Given the description of an element on the screen output the (x, y) to click on. 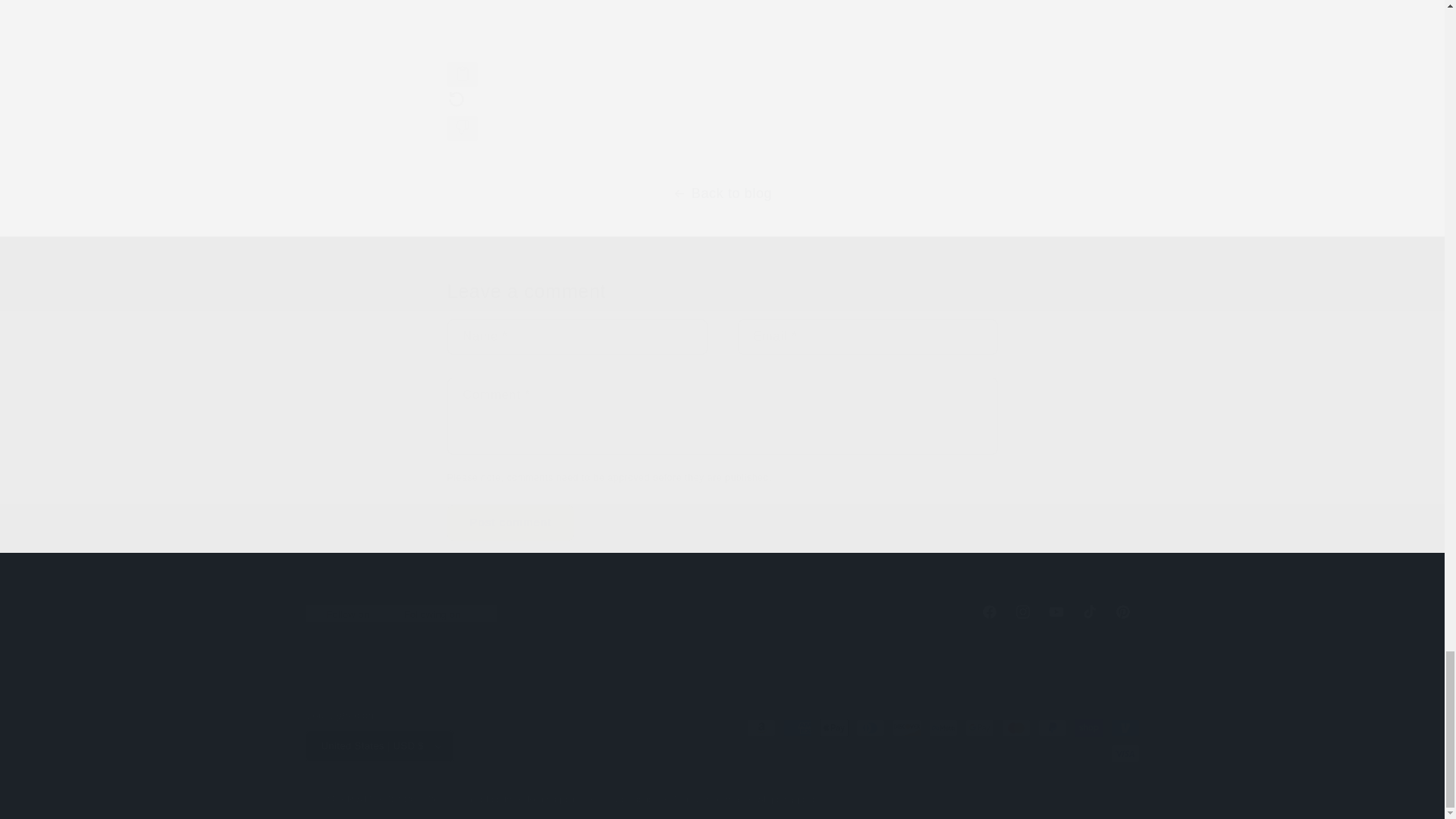
TikTok (1088, 611)
Privacy policy (628, 799)
Terms of service (707, 799)
Pinterest (1121, 611)
Powered by Shopify (469, 798)
KRISTALKIDD.COM (382, 798)
Shipping policy (789, 799)
Post comment (510, 522)
Facebook (989, 611)
Instagram (1022, 611)
Refund policy (721, 611)
YouTube (556, 799)
